Given the description of an element on the screen output the (x, y) to click on. 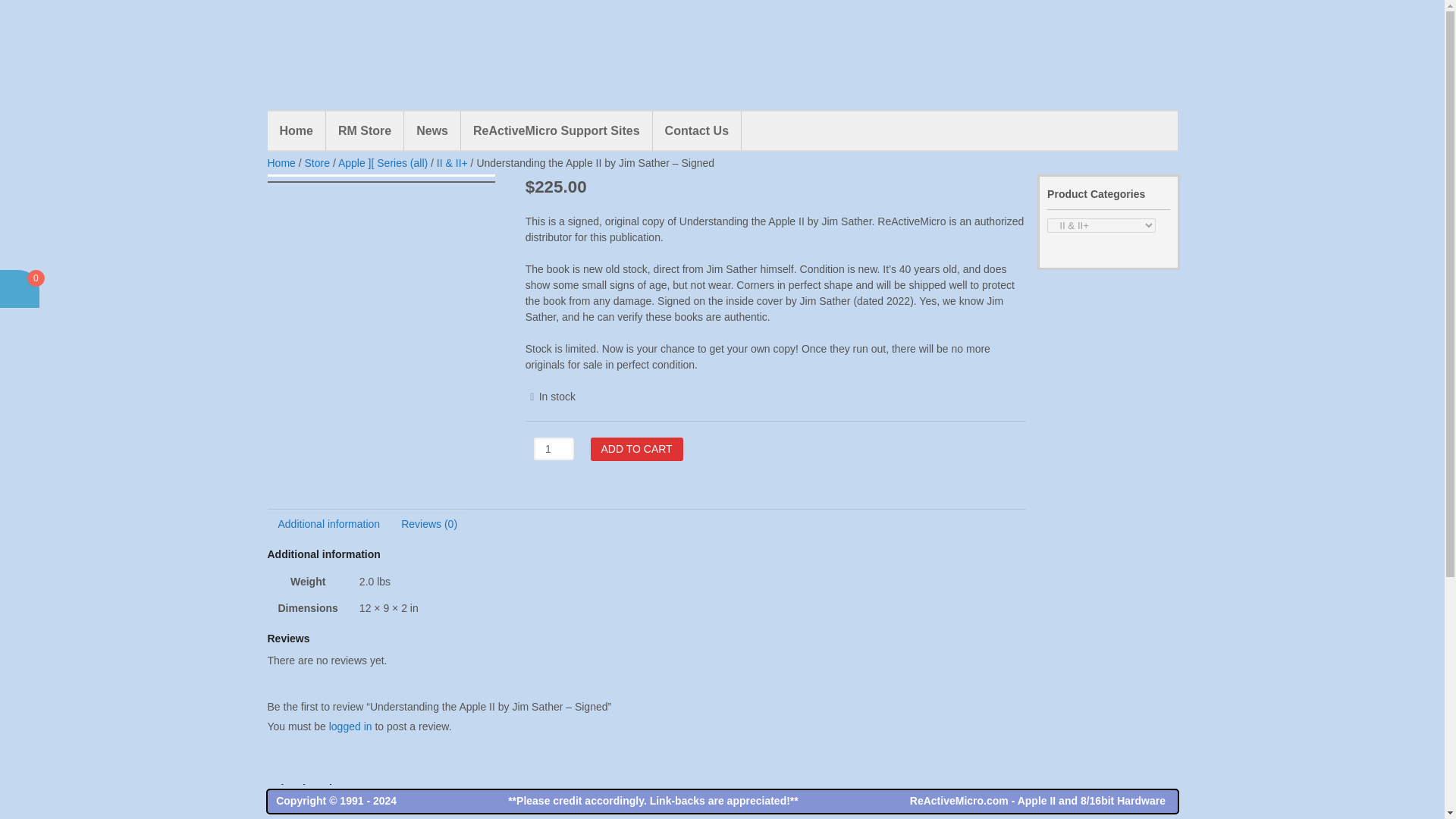
1 (553, 447)
SOCIALICON (1270, 35)
RM Store (364, 130)
RSS (1307, 35)
WooCommerce Floating Cart (17, 288)
ADD TO CART (635, 448)
Additional information (328, 523)
ReActiveMicro Support Sites (556, 130)
Contact Us (696, 130)
News (432, 130)
Store (317, 162)
Home (295, 130)
Facebook (1345, 35)
Home (280, 162)
logged in (350, 726)
